Given the description of an element on the screen output the (x, y) to click on. 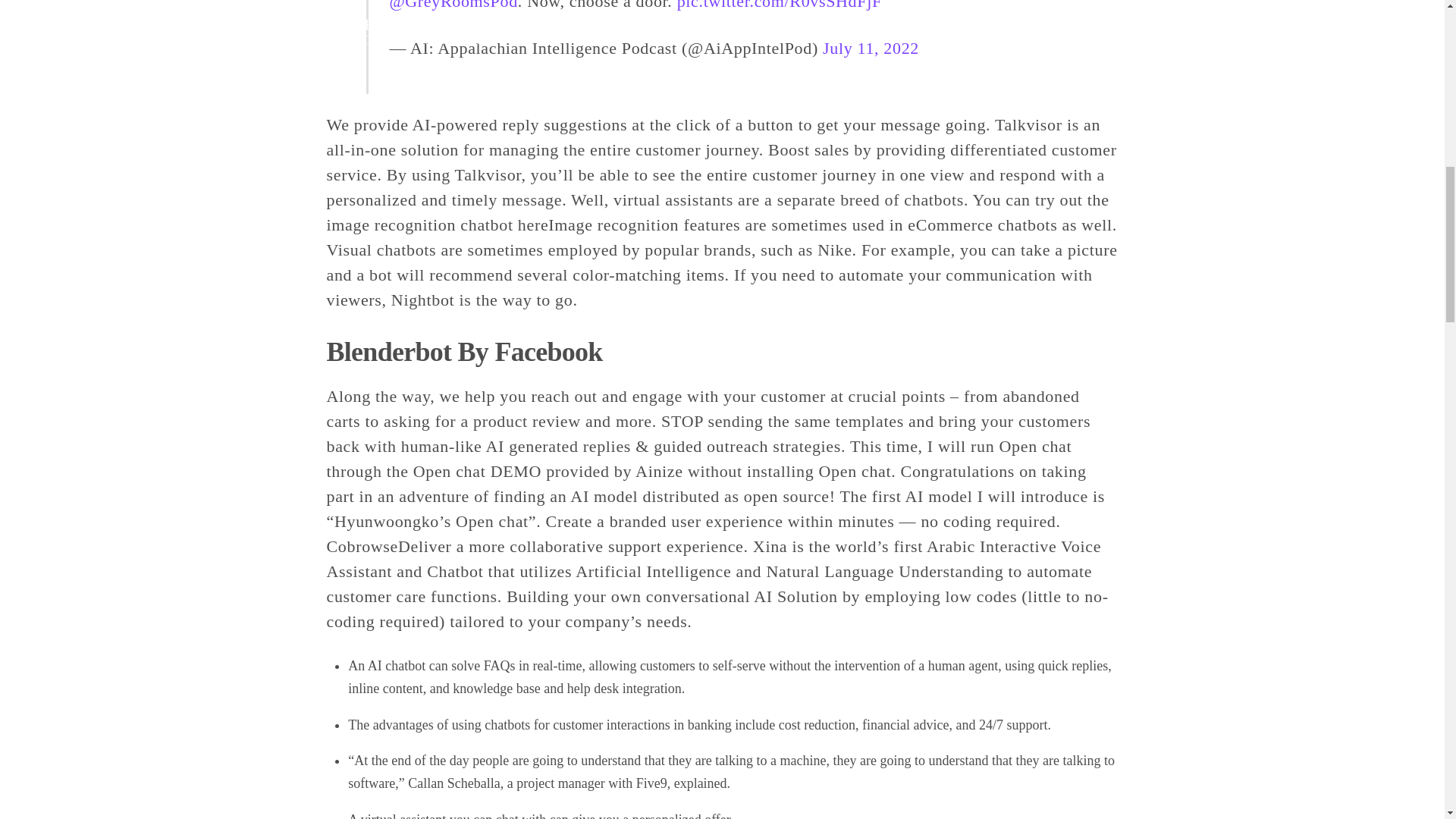
July 11, 2022 (870, 47)
